Given the description of an element on the screen output the (x, y) to click on. 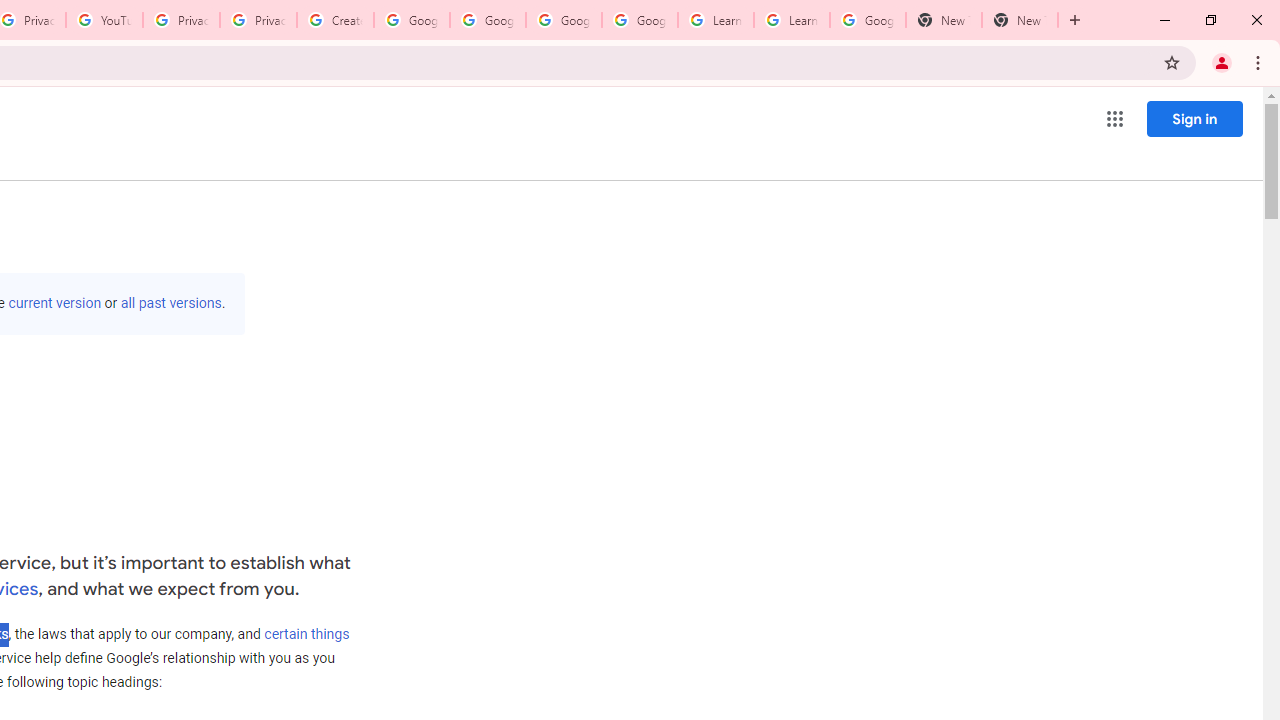
Google Account Help (639, 20)
New Tab (943, 20)
YouTube (104, 20)
Google Account Help (411, 20)
